Given the description of an element on the screen output the (x, y) to click on. 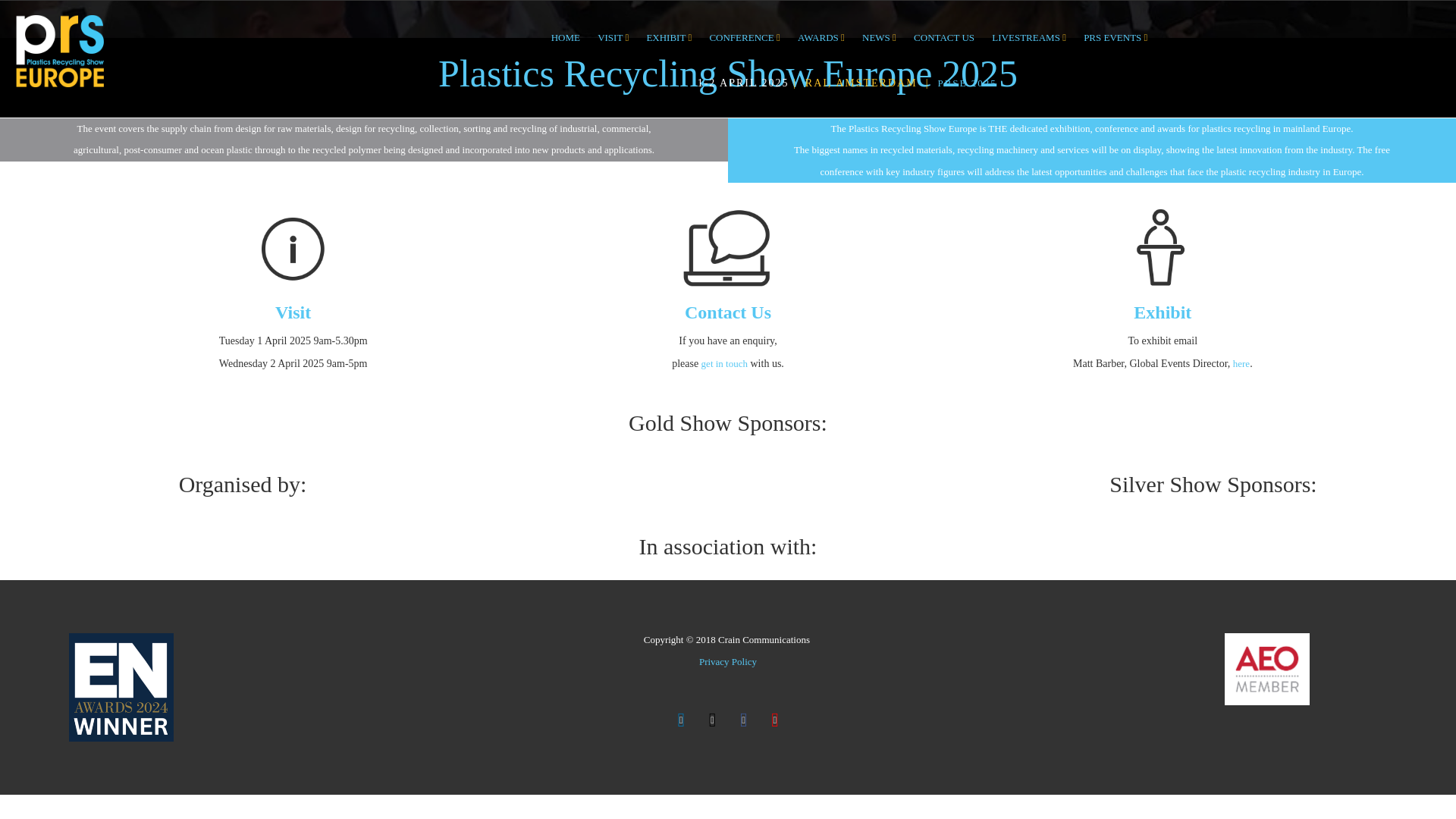
LIVESTREAMS (1029, 38)
CONFERENCE (744, 38)
CONTACT US (943, 38)
PRS EVENTS (1114, 38)
